Given the description of an element on the screen output the (x, y) to click on. 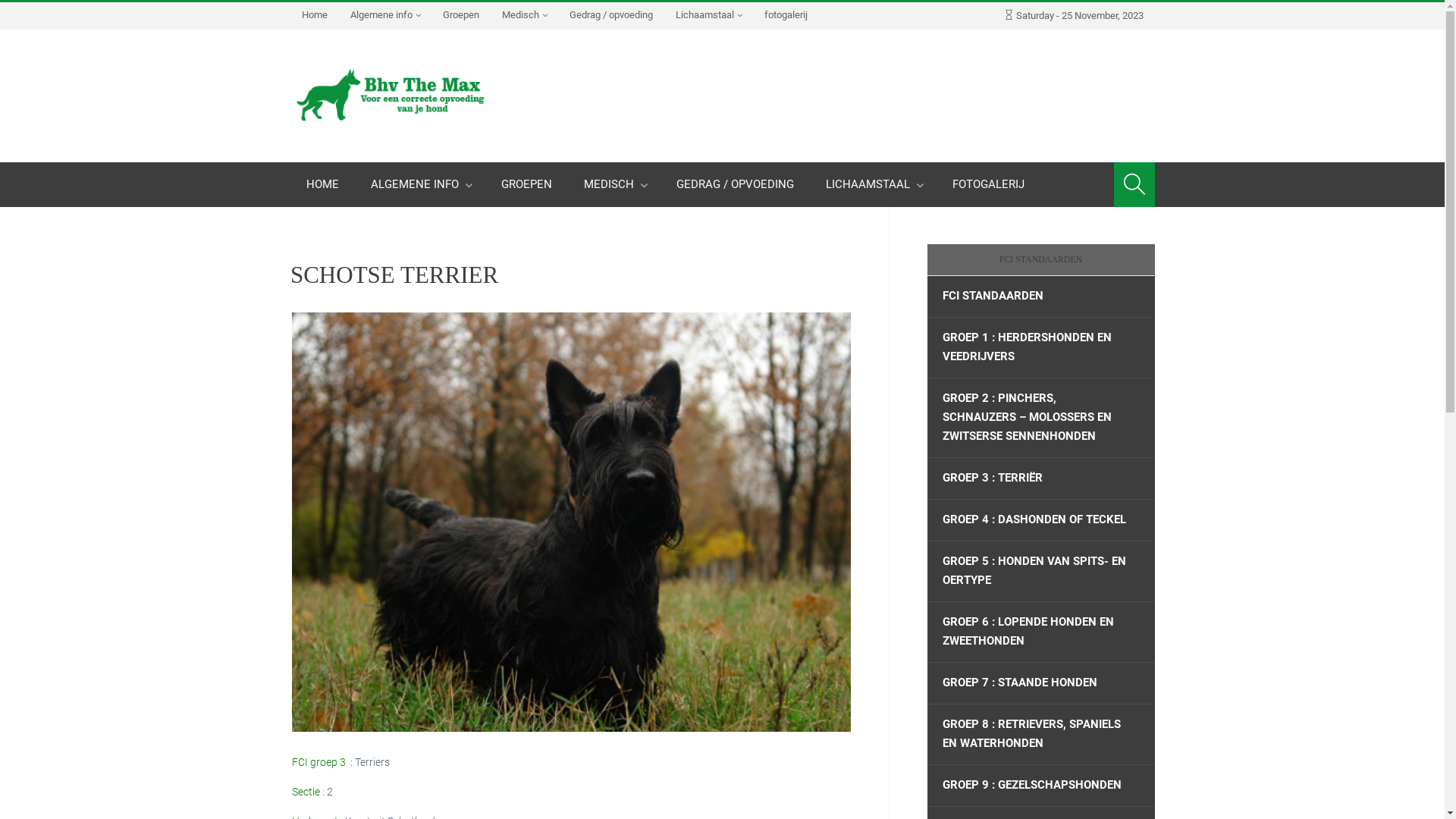
Groepen Element type: text (459, 15)
Home Element type: text (313, 15)
GROEP 4 : DASHONDEN OF TECKEL Element type: text (1040, 519)
GEDRAG / OPVOEDING Element type: text (734, 184)
fotogalerij Element type: text (785, 15)
GROEP 6 : LOPENDE HONDEN EN ZWEETHONDEN Element type: text (1040, 631)
ALGEMENE INFO Element type: text (419, 184)
GROEPEN Element type: text (526, 184)
HOME Element type: text (321, 184)
MEDISCH Element type: text (613, 184)
GROEP 7 : STAANDE HONDEN Element type: text (1040, 683)
GROEP 1 : HERDERSHONDEN EN VEEDRIJVERS Element type: text (1040, 347)
GROEP 9 : GEZELSCHAPSHONDEN Element type: text (1040, 785)
LICHAAMSTAAL Element type: text (872, 184)
Gedrag / opvoeding Element type: text (611, 15)
Lichaamstaal  Element type: text (708, 15)
GROEP 5 : HONDEN VAN SPITS- EN OERTYPE Element type: text (1040, 571)
Algemene info  Element type: text (384, 15)
Medisch  Element type: text (523, 15)
FOTOGALERIJ Element type: text (987, 184)
FCI STANDAARDEN Element type: text (1040, 296)
GROEP 8 : RETRIEVERS, SPANIELS EN WATERHONDEN Element type: text (1040, 734)
